Given the description of an element on the screen output the (x, y) to click on. 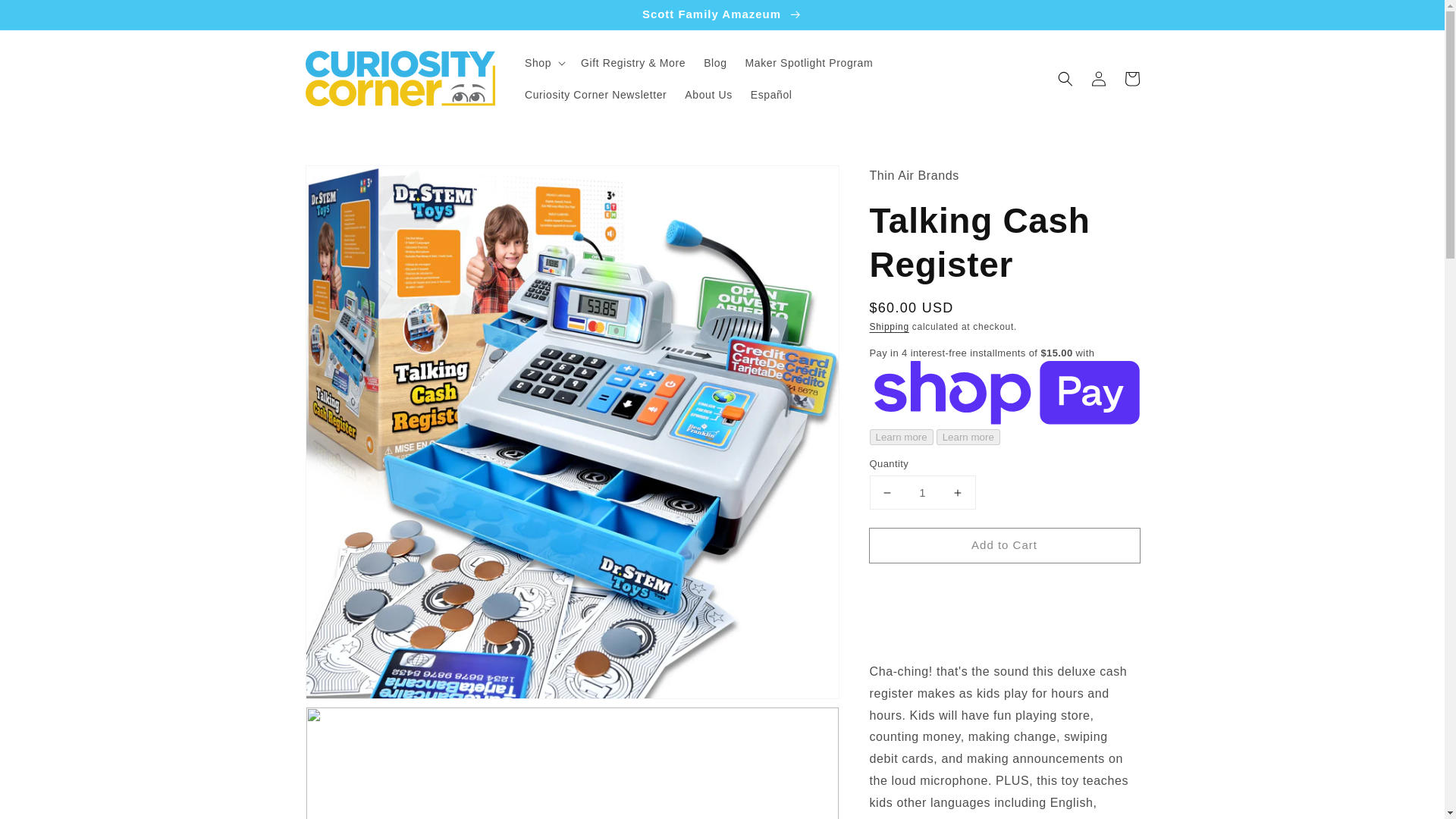
1 (922, 491)
Skip to content (45, 16)
